Given the description of an element on the screen output the (x, y) to click on. 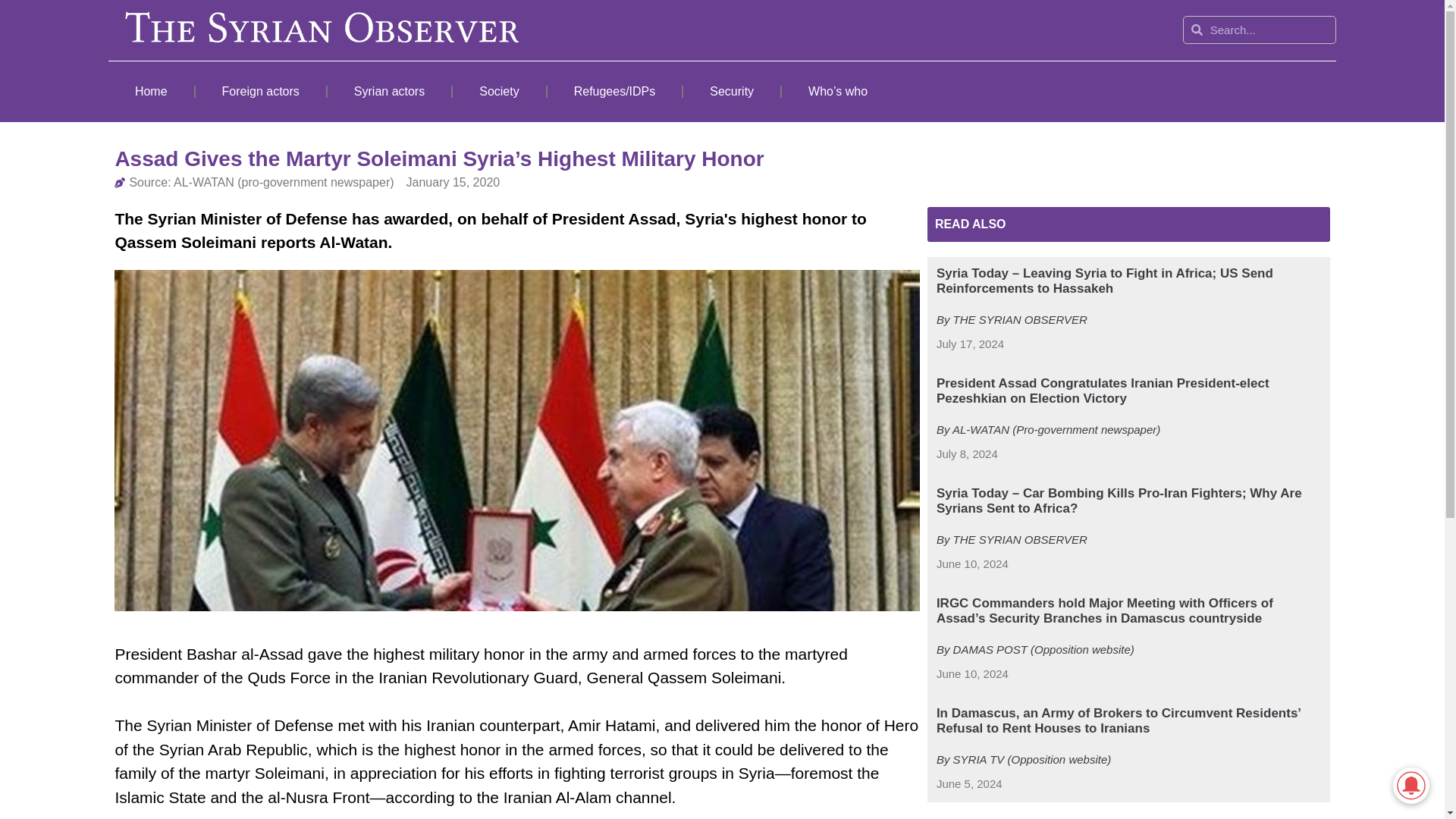
June 10, 2024 (972, 674)
Security (731, 91)
Syrian actors (389, 91)
July 17, 2024 (970, 343)
June 5, 2024 (969, 784)
June 10, 2024 (972, 564)
July 8, 2024 (966, 454)
Foreign actors (260, 91)
Home (150, 91)
Society (498, 91)
